Given the description of an element on the screen output the (x, y) to click on. 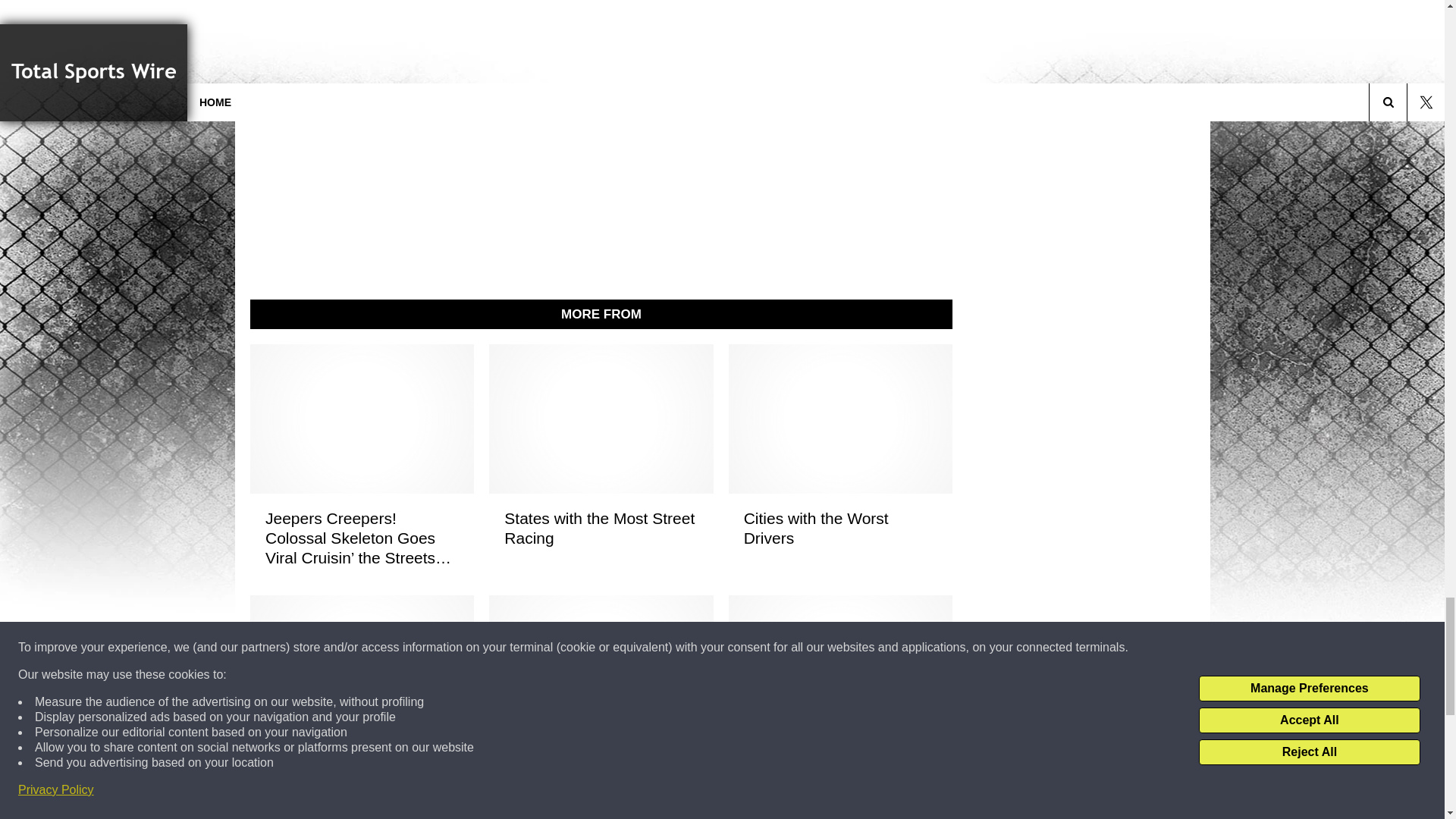
Tiger Woods Involved in Serious Car Accident (361, 778)
States with the Most Street Racing (600, 527)
Cities with the Worst Drivers (839, 527)
NASCAR Bans Confederate Flags At Its Events (600, 788)
MLB Team Owners Approve Proposal for July Baseball Start (839, 788)
